Given the description of an element on the screen output the (x, y) to click on. 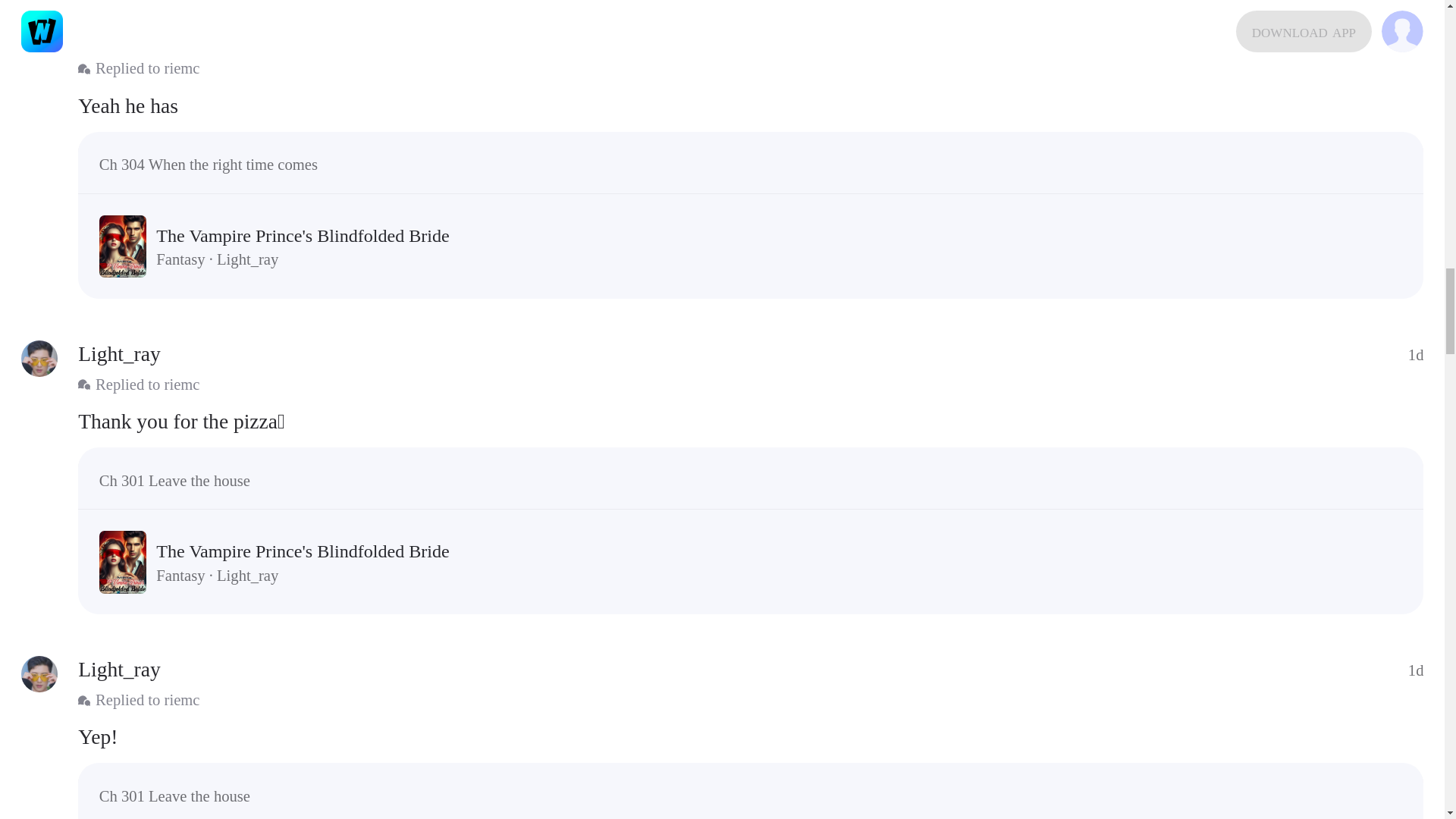
reply (750, 420)
reply (750, 105)
reply (750, 736)
